Given the description of an element on the screen output the (x, y) to click on. 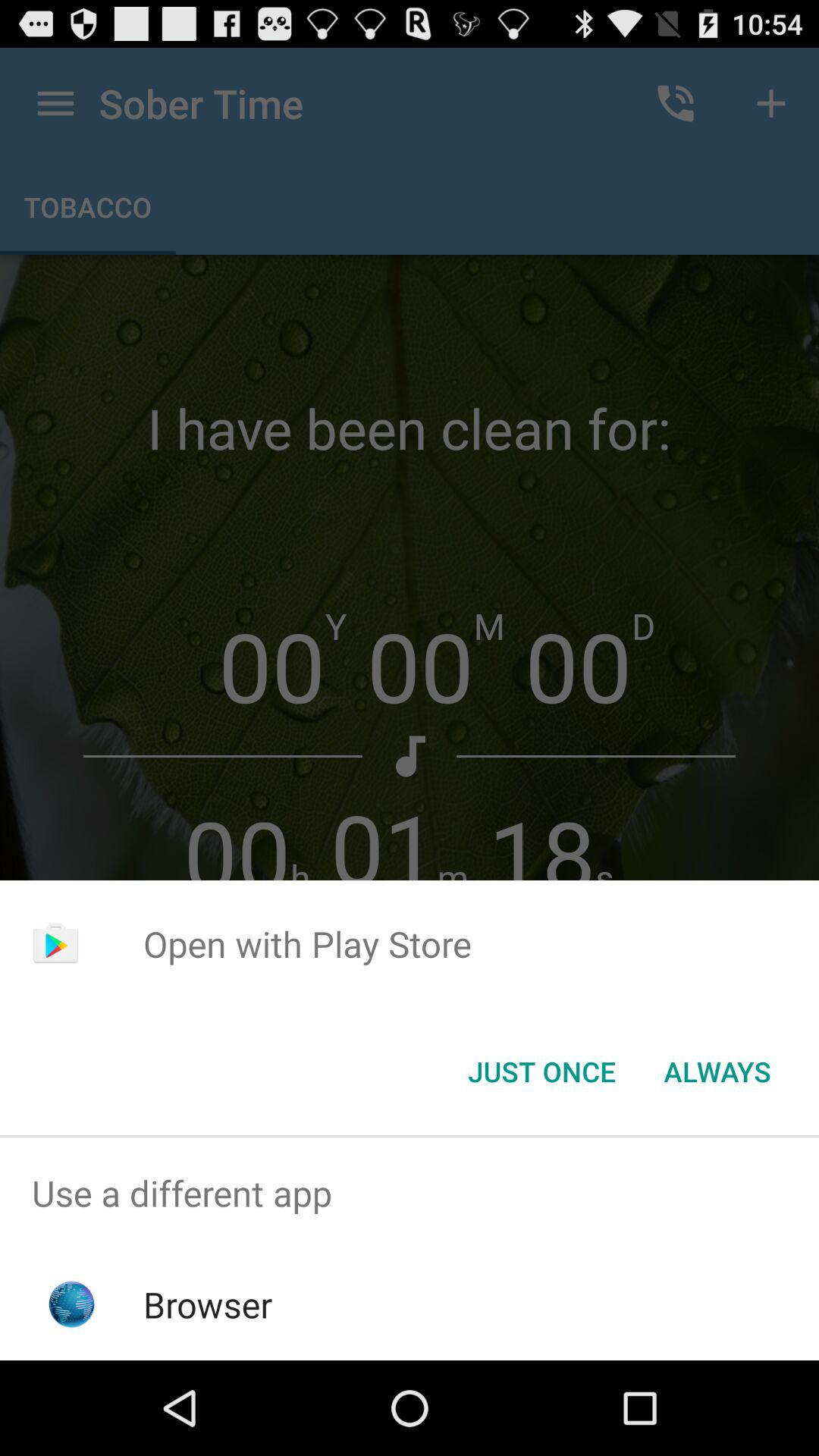
open the use a different icon (409, 1192)
